Given the description of an element on the screen output the (x, y) to click on. 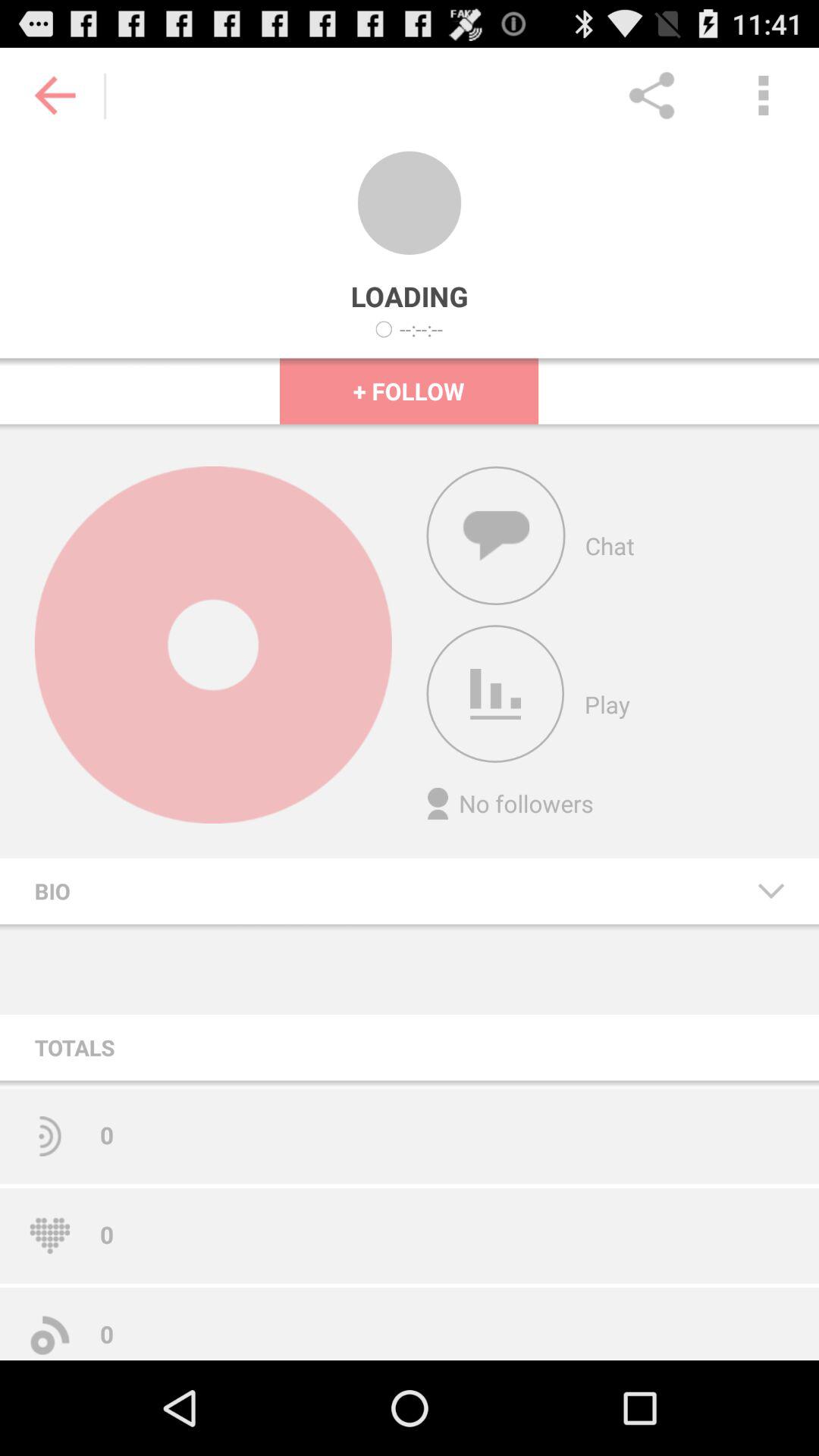
click the icon to the right of the bio (771, 891)
